Given the description of an element on the screen output the (x, y) to click on. 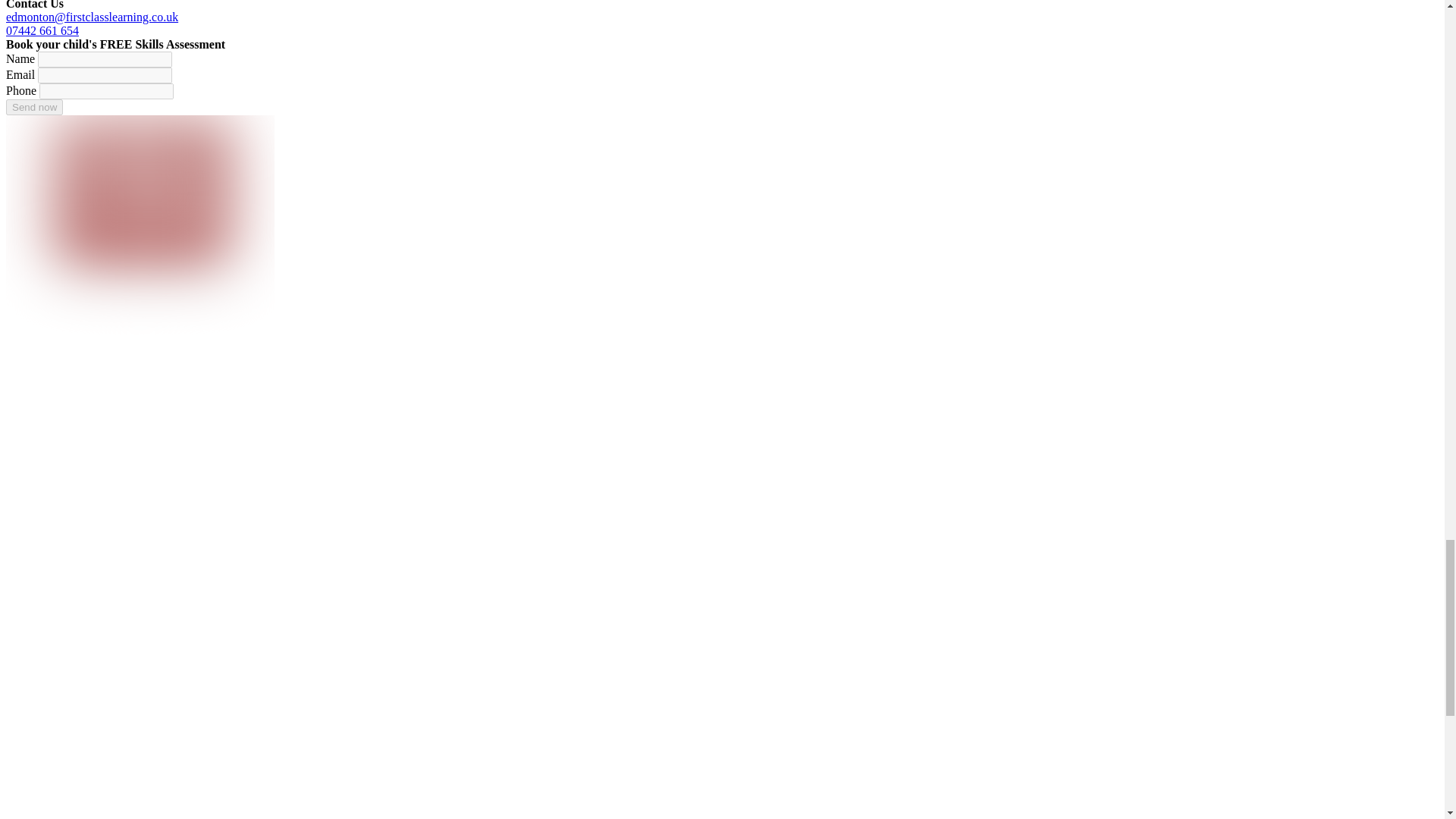
07442 661 654 (41, 30)
